Given the description of an element on the screen output the (x, y) to click on. 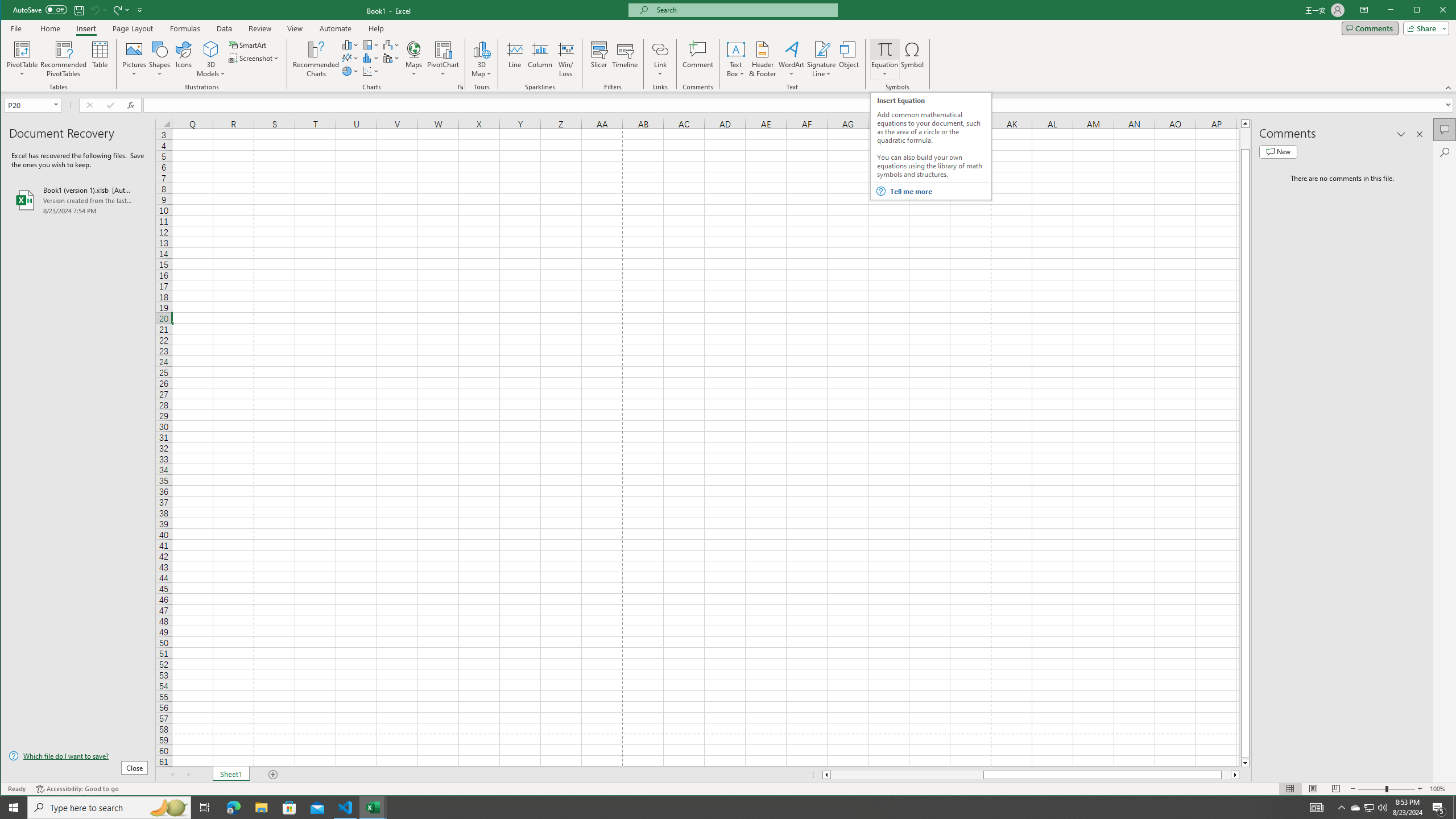
Signature Line (821, 48)
Visual Studio Code - 1 running window (345, 807)
User Promoted Notification Area (1368, 807)
Excel - 2 running windows (373, 807)
Link (659, 48)
PivotTable (22, 48)
Symbol... (912, 59)
